Given the description of an element on the screen output the (x, y) to click on. 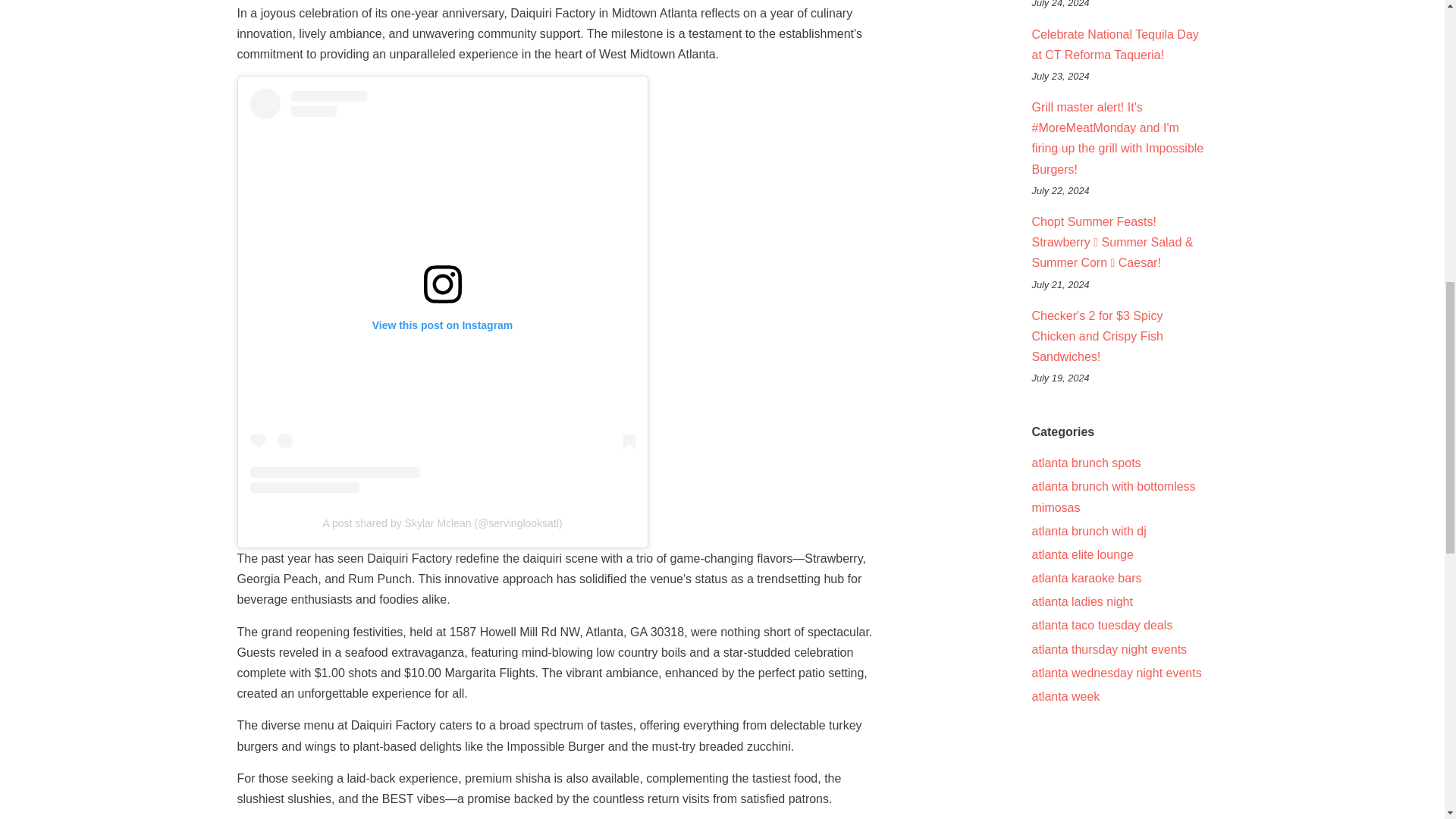
Show articles tagged atlanta karaoke bars (1085, 577)
Show articles tagged atlanta week (1064, 696)
Show articles tagged atlanta brunch with dj (1087, 530)
Show articles tagged atlanta elite lounge (1081, 554)
Show articles tagged atlanta taco tuesday deals (1101, 625)
Show articles tagged atlanta thursday night events (1108, 649)
Show articles tagged atlanta wednesday night events (1115, 672)
Show articles tagged atlanta ladies night (1081, 601)
Show articles tagged atlanta brunch spots (1085, 462)
Show articles tagged atlanta brunch with bottomless mimosas (1112, 496)
